Given the description of an element on the screen output the (x, y) to click on. 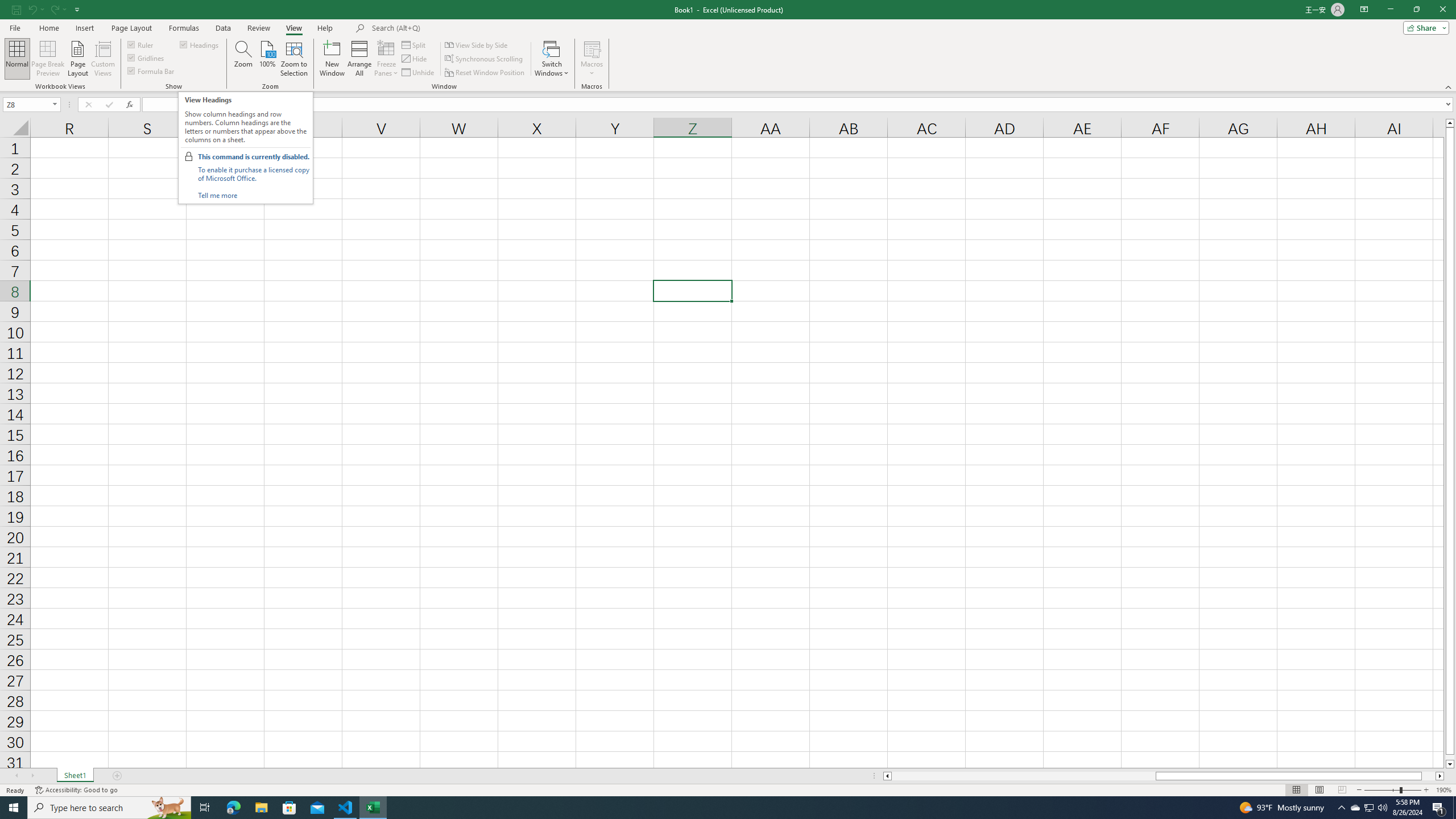
Formula Bar (151, 69)
Hide (415, 58)
This command is currently disabled. (253, 156)
Page left (1023, 775)
View Macros (591, 48)
